Given the description of an element on the screen output the (x, y) to click on. 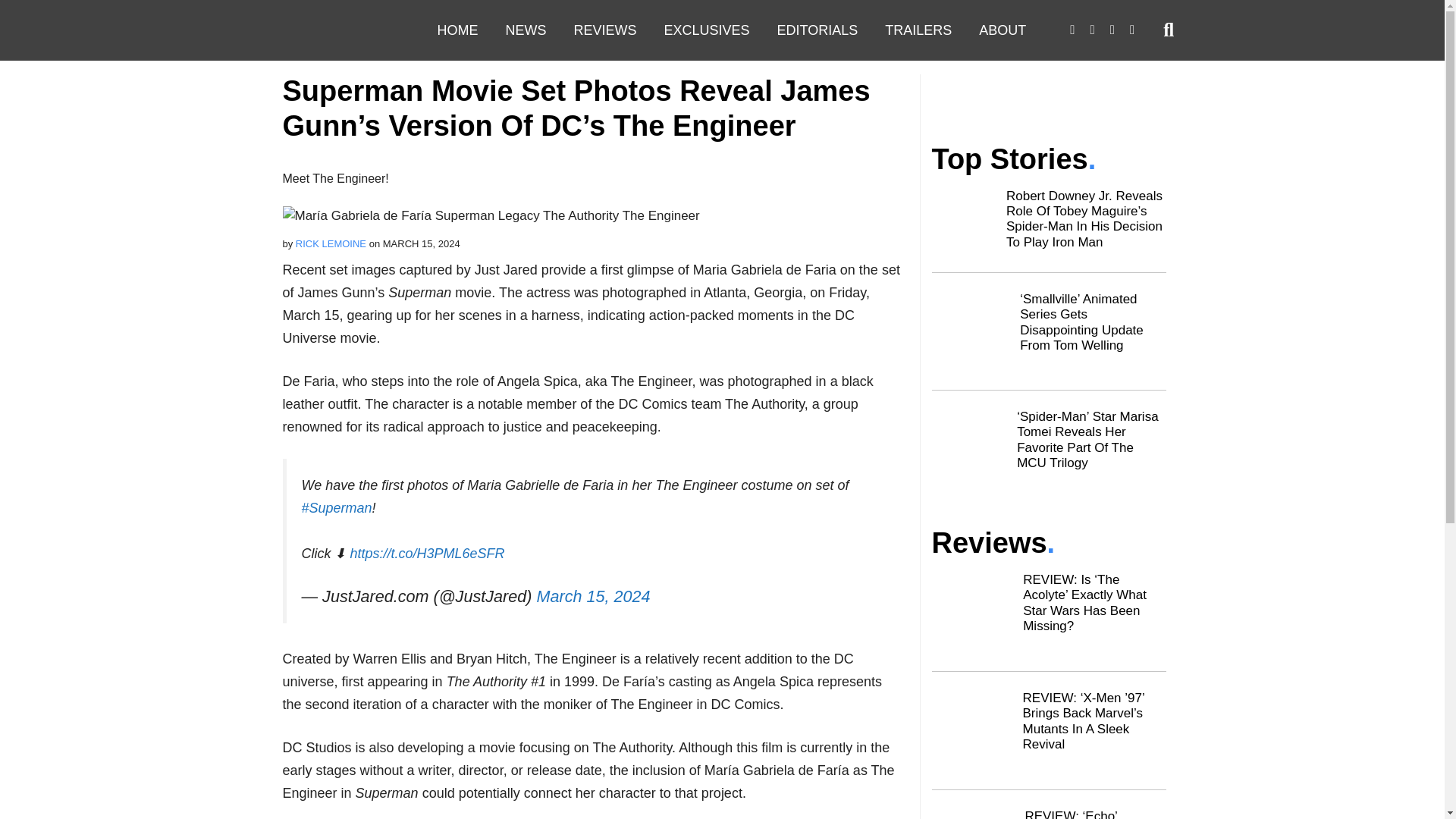
TRAILERS (917, 30)
EXCLUSIVES (706, 30)
2024-03-15 (421, 243)
REVIEWS (604, 30)
EDITORIALS (817, 30)
ABOUT (1002, 30)
HOME (457, 30)
NEWS (525, 30)
